Given the description of an element on the screen output the (x, y) to click on. 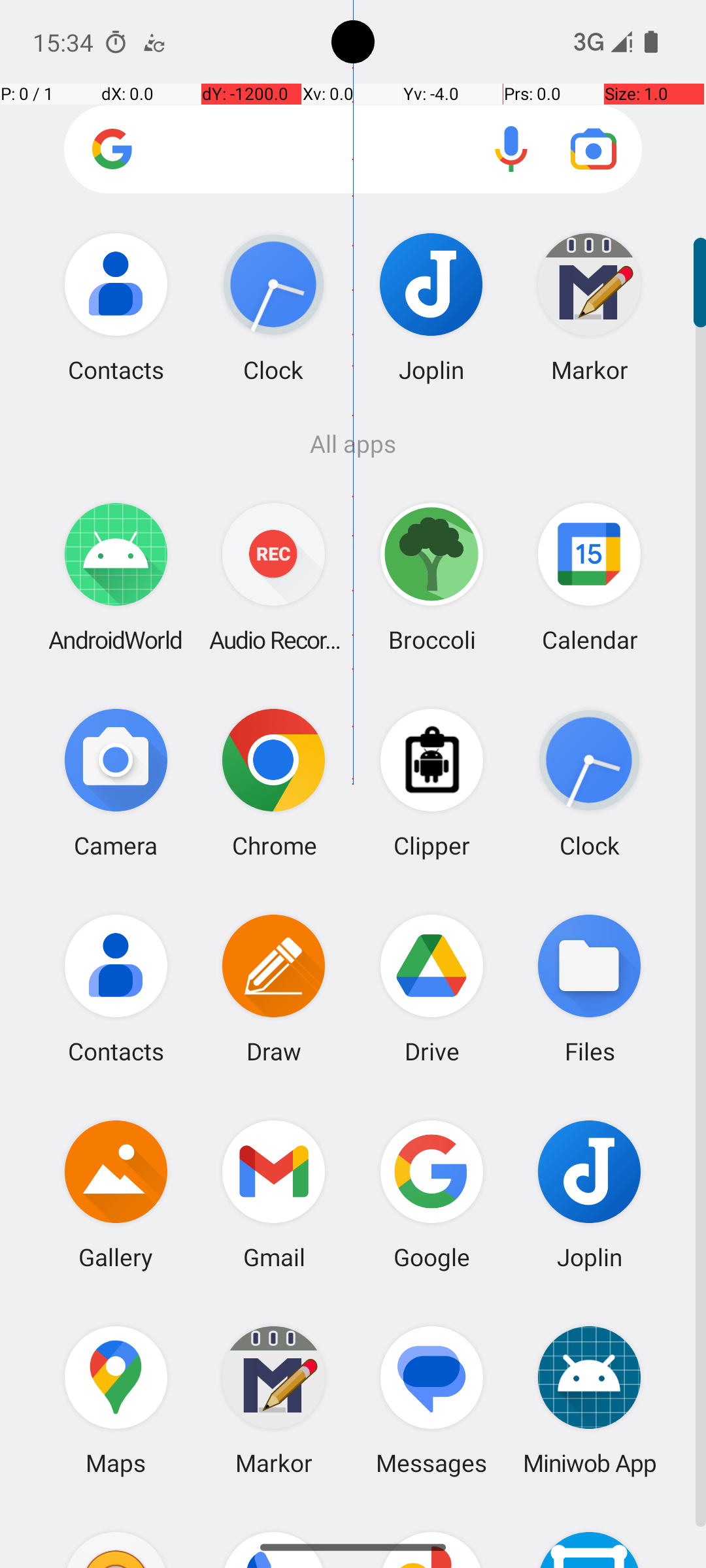
Maps Element type: android.widget.TextView (115, 1399)
Miniwob App Element type: android.widget.TextView (589, 1399)
